Given the description of an element on the screen output the (x, y) to click on. 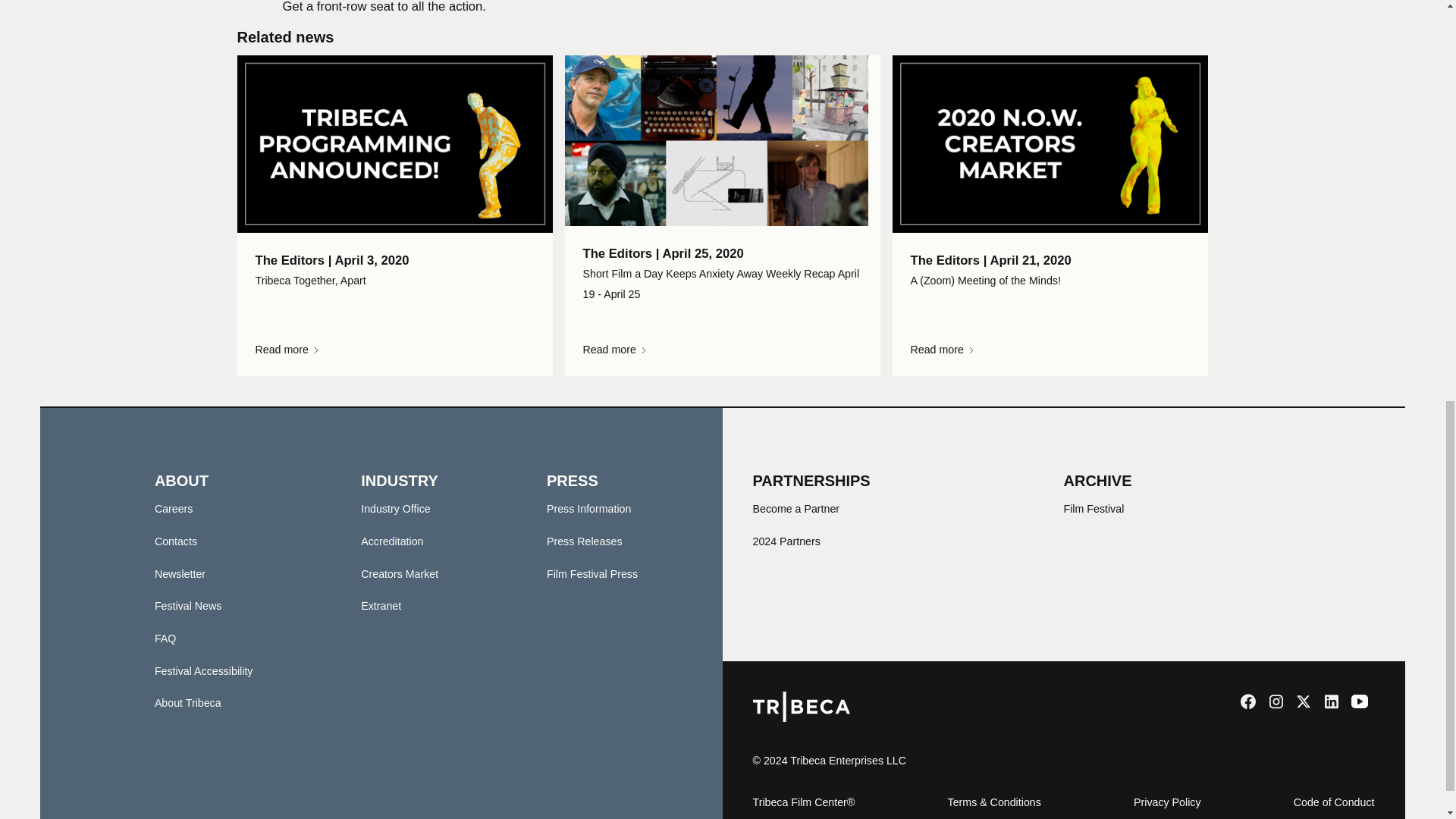
Contacts (175, 541)
Festival News (188, 605)
Careers (173, 508)
Industry Office (395, 508)
About Tribeca (187, 702)
Read more (1049, 349)
FAQ (165, 638)
Festival Accessibility (203, 671)
Accreditation (392, 541)
Read more (721, 349)
